Given the description of an element on the screen output the (x, y) to click on. 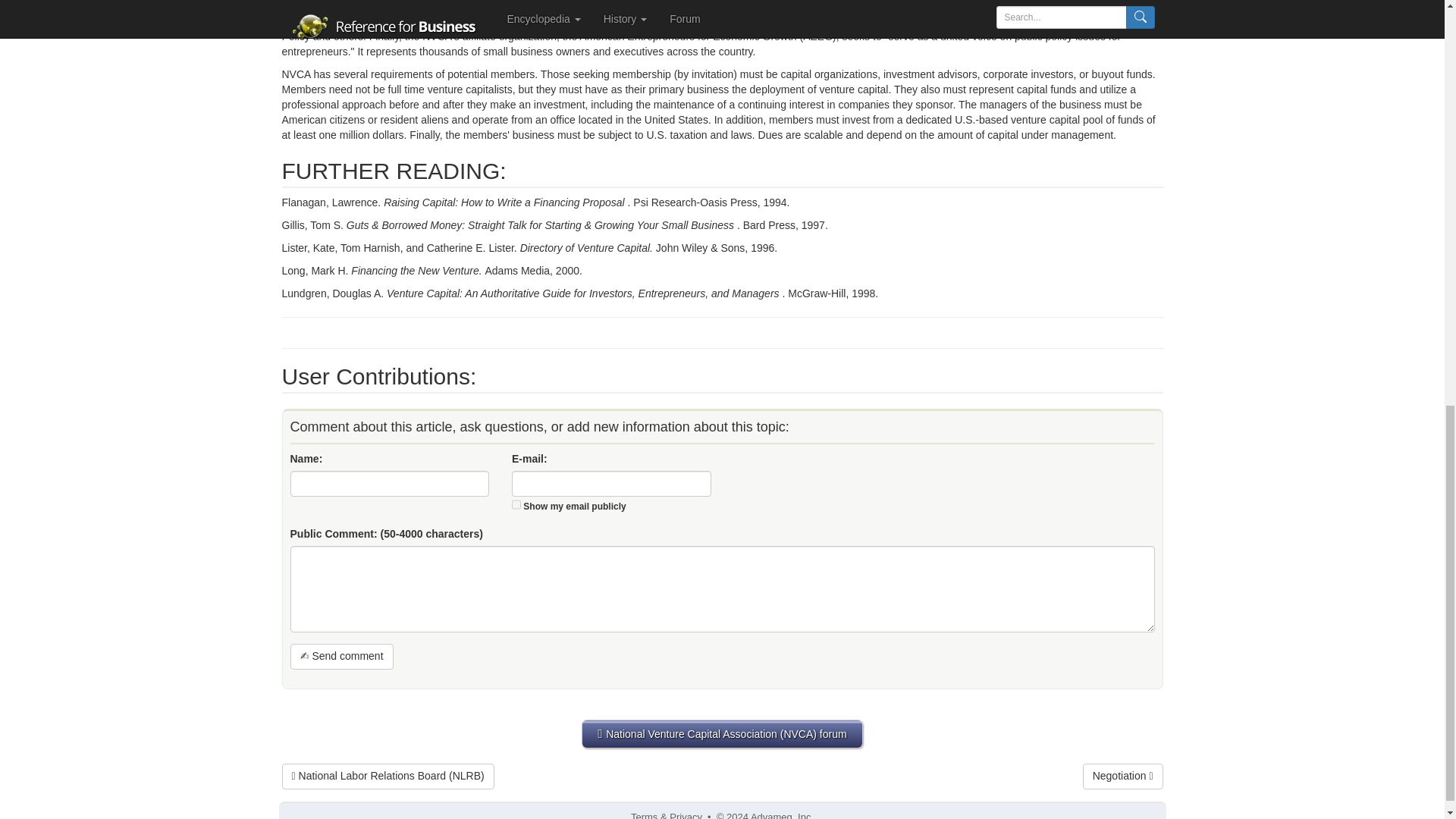
1 (516, 504)
Negotiation (1123, 776)
